Given the description of an element on the screen output the (x, y) to click on. 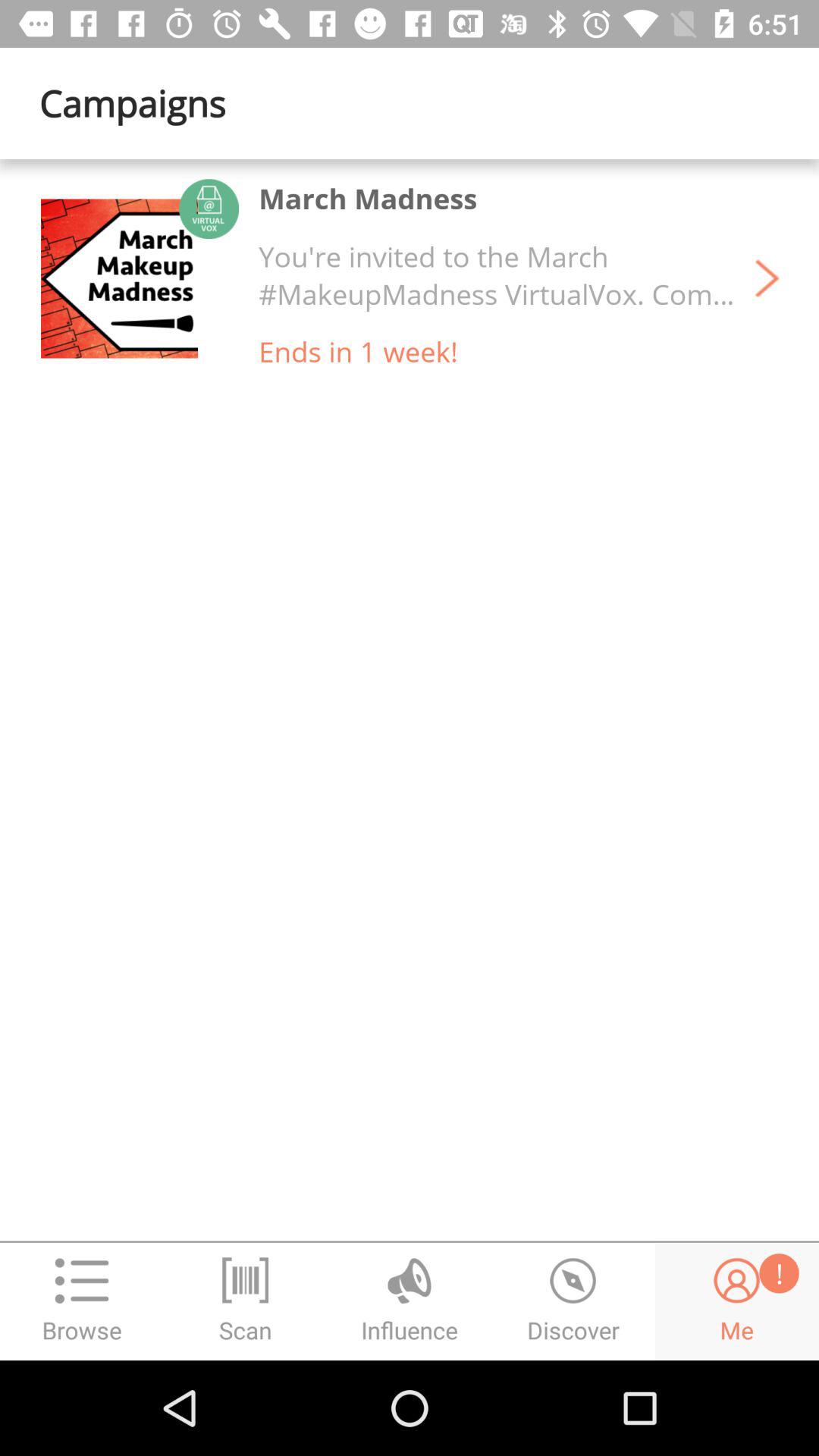
jump to the you re invited (496, 274)
